Given the description of an element on the screen output the (x, y) to click on. 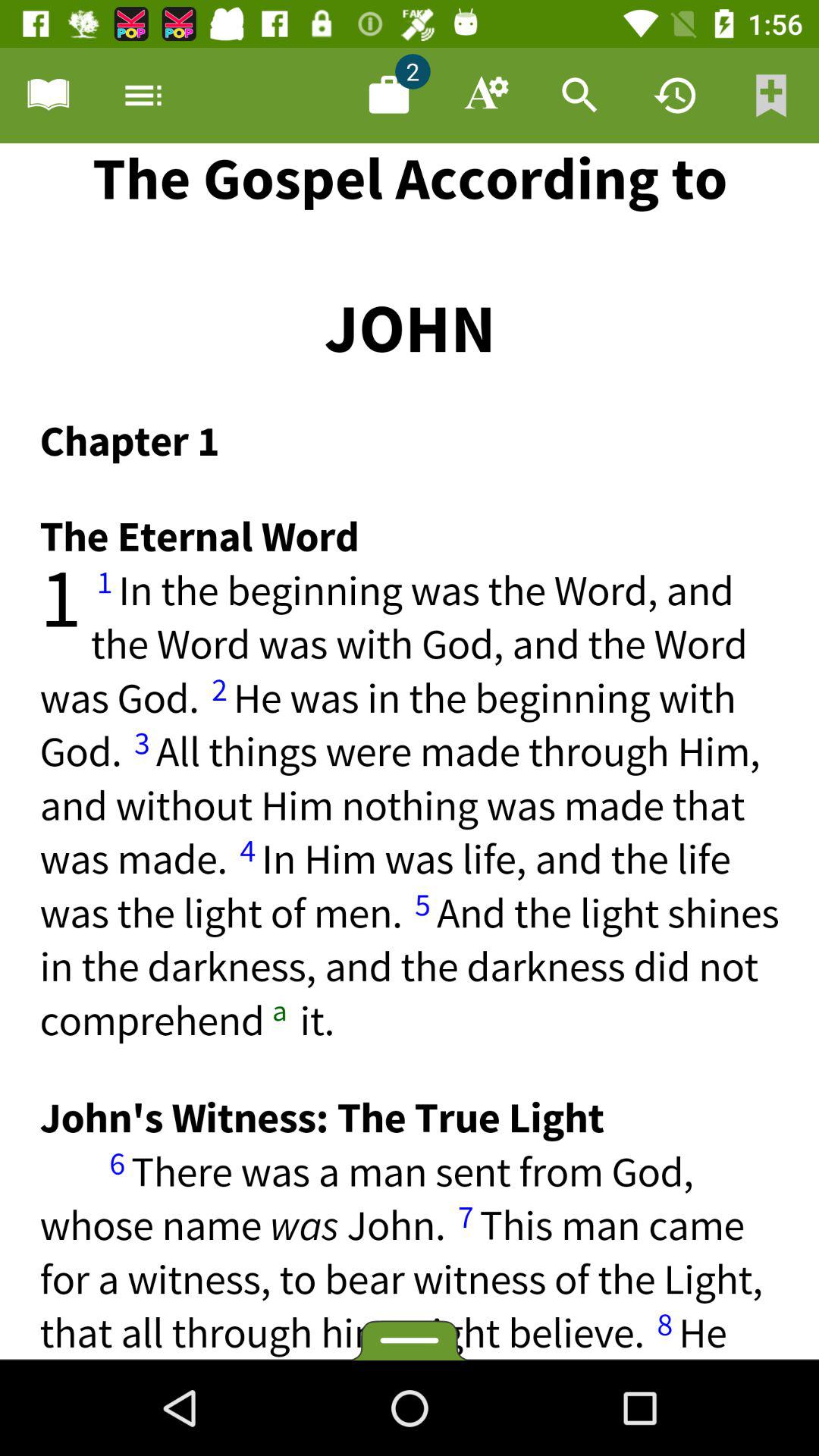
go to search button (579, 95)
